Given the description of an element on the screen output the (x, y) to click on. 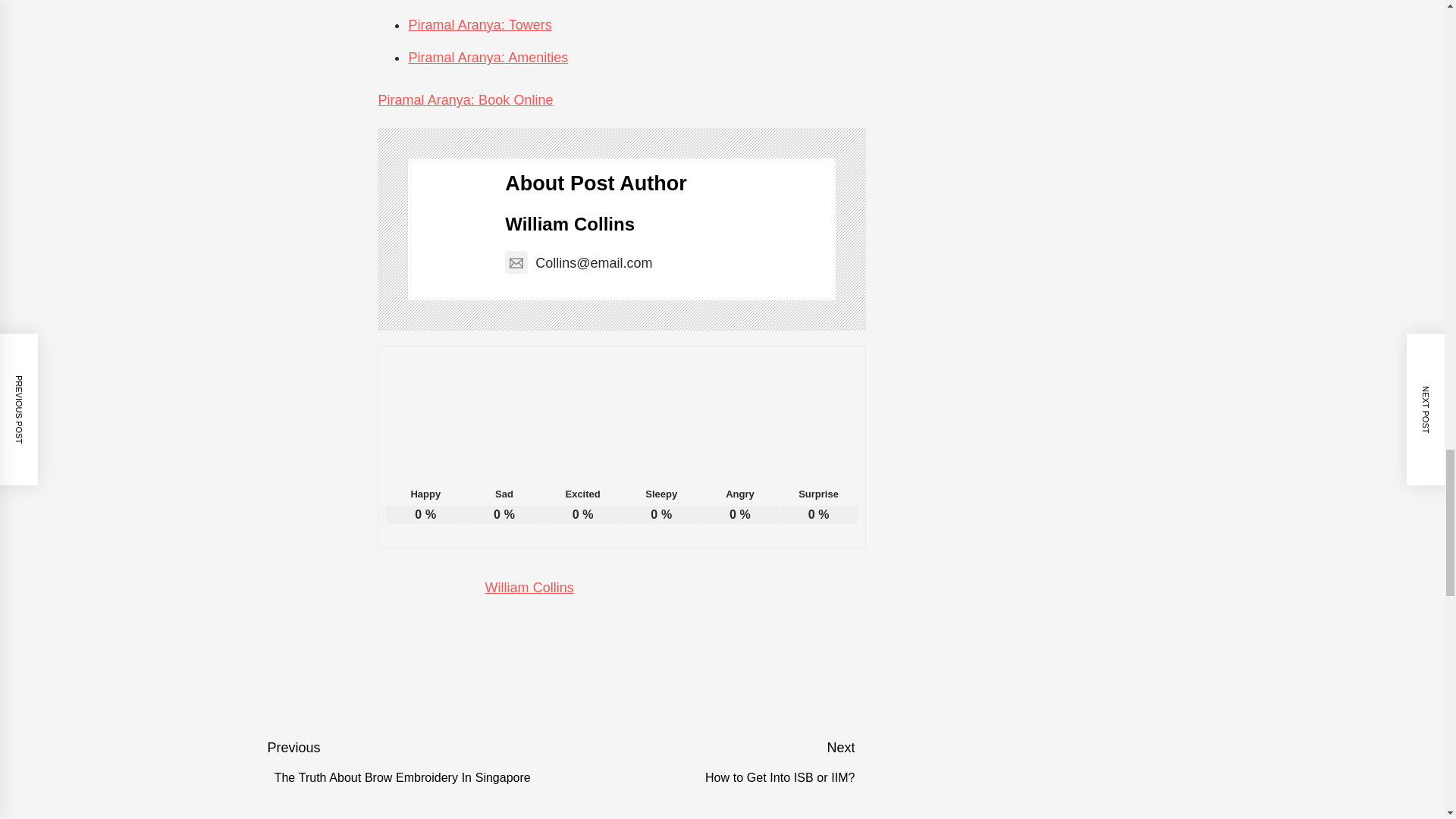
Piramal Aranya: Book Online (465, 99)
William Collins (569, 223)
William Collins (528, 587)
Piramal Aranya: Towers (479, 24)
Piramal Aranya: Amenities (487, 57)
